Given the description of an element on the screen output the (x, y) to click on. 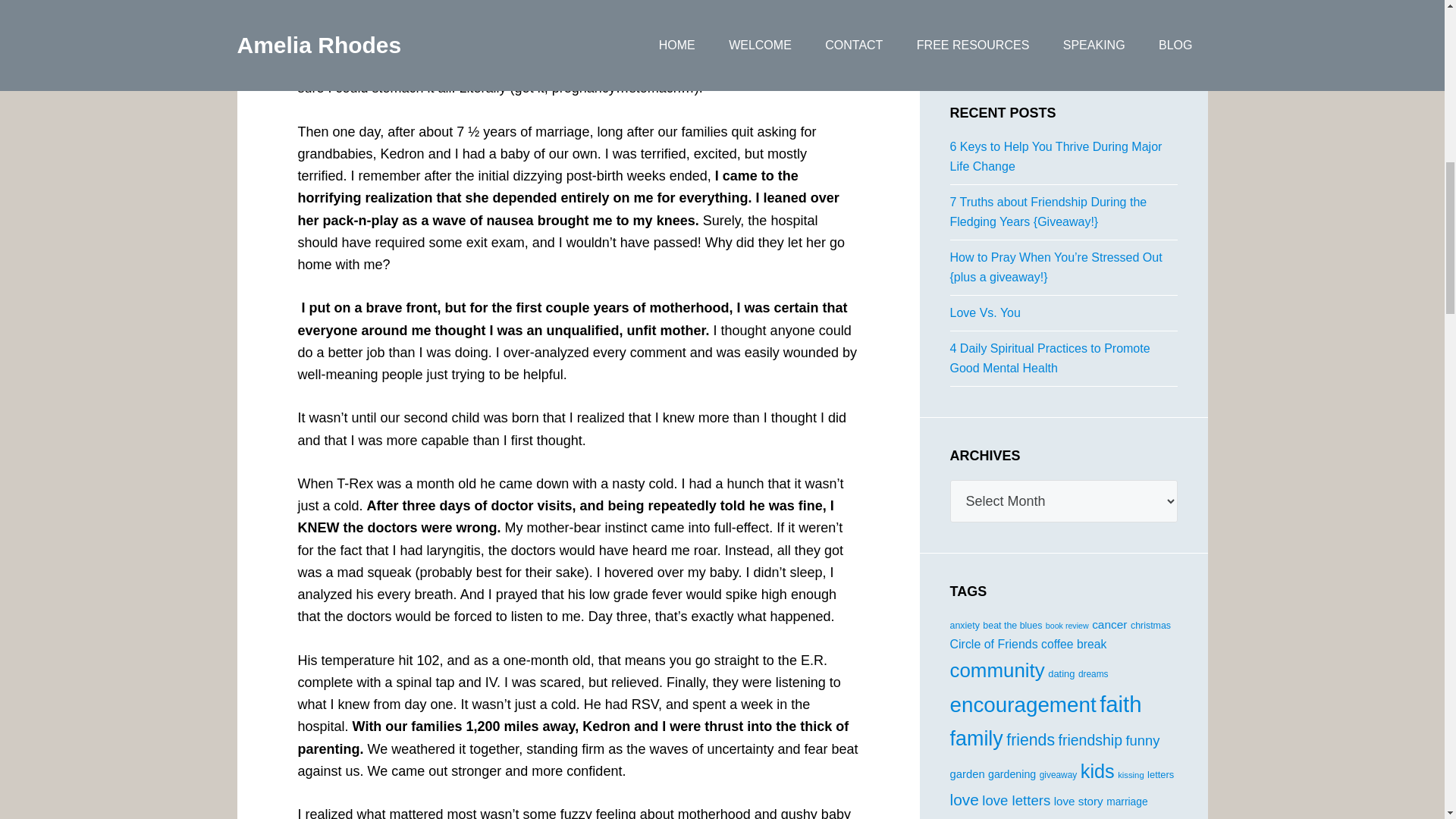
6 Keys to Help You Thrive During Major Life Change (1055, 156)
Love Vs. You (984, 312)
